Given the description of an element on the screen output the (x, y) to click on. 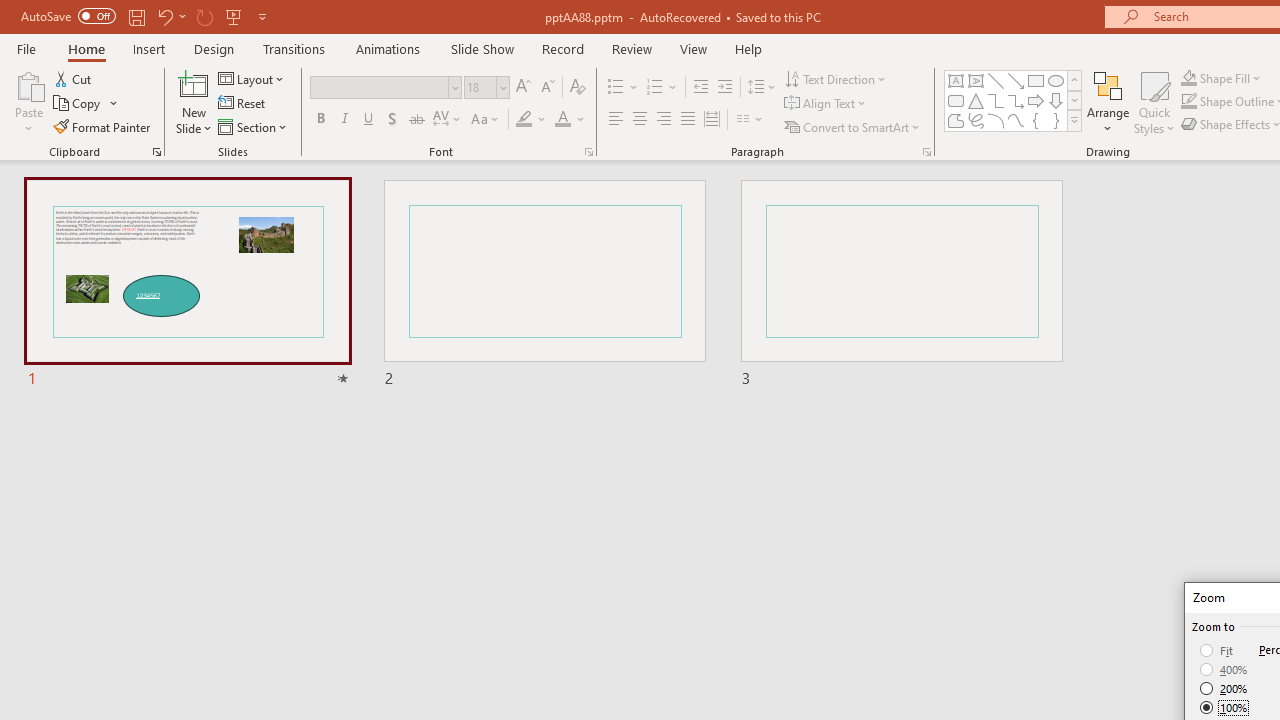
Fit (1217, 650)
